Given the description of an element on the screen output the (x, y) to click on. 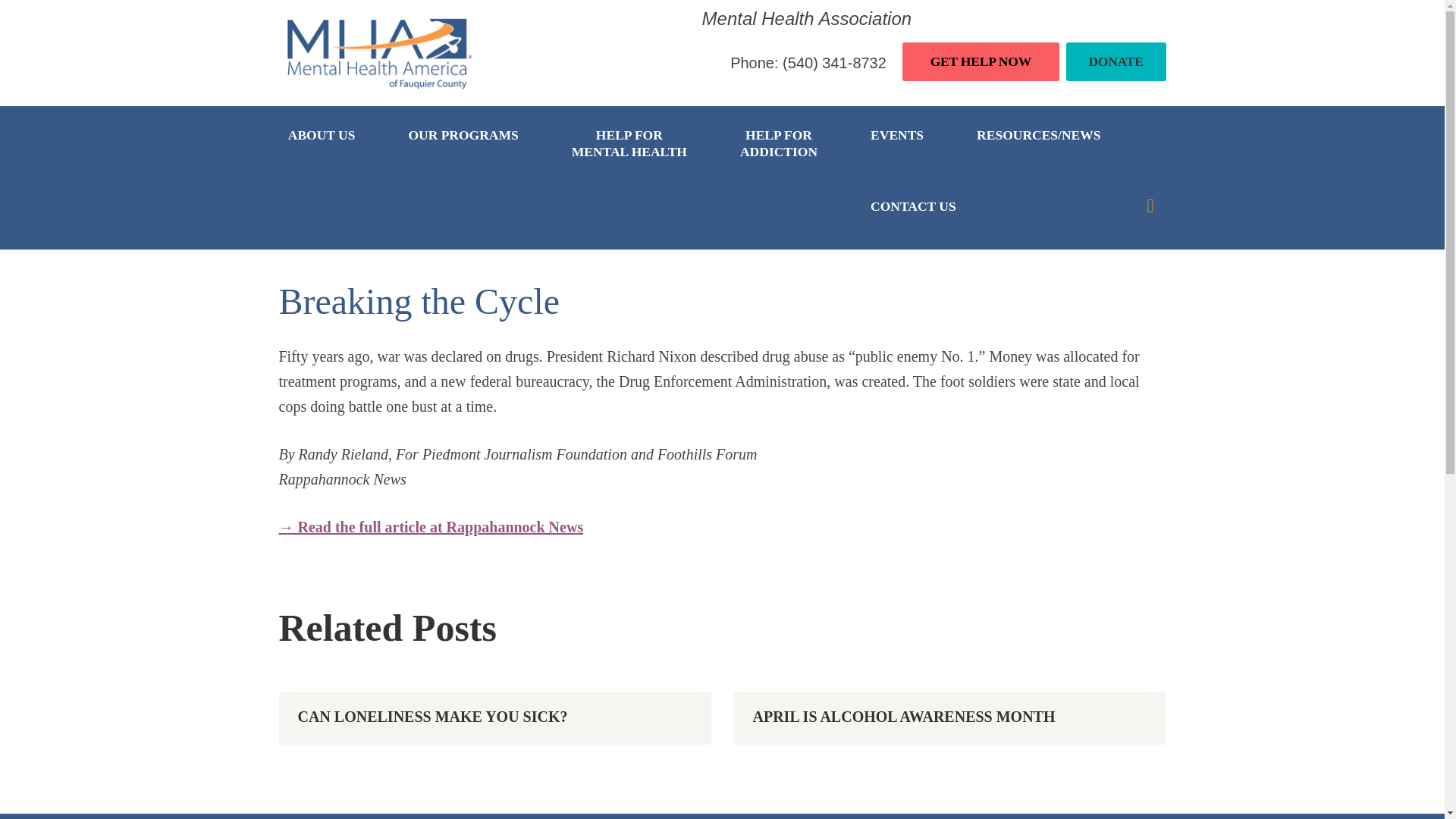
EVENTS (897, 142)
ABOUT US (330, 142)
DONATE (1115, 61)
OUR PROGRAMS (628, 142)
GET HELP NOW (778, 142)
